Given the description of an element on the screen output the (x, y) to click on. 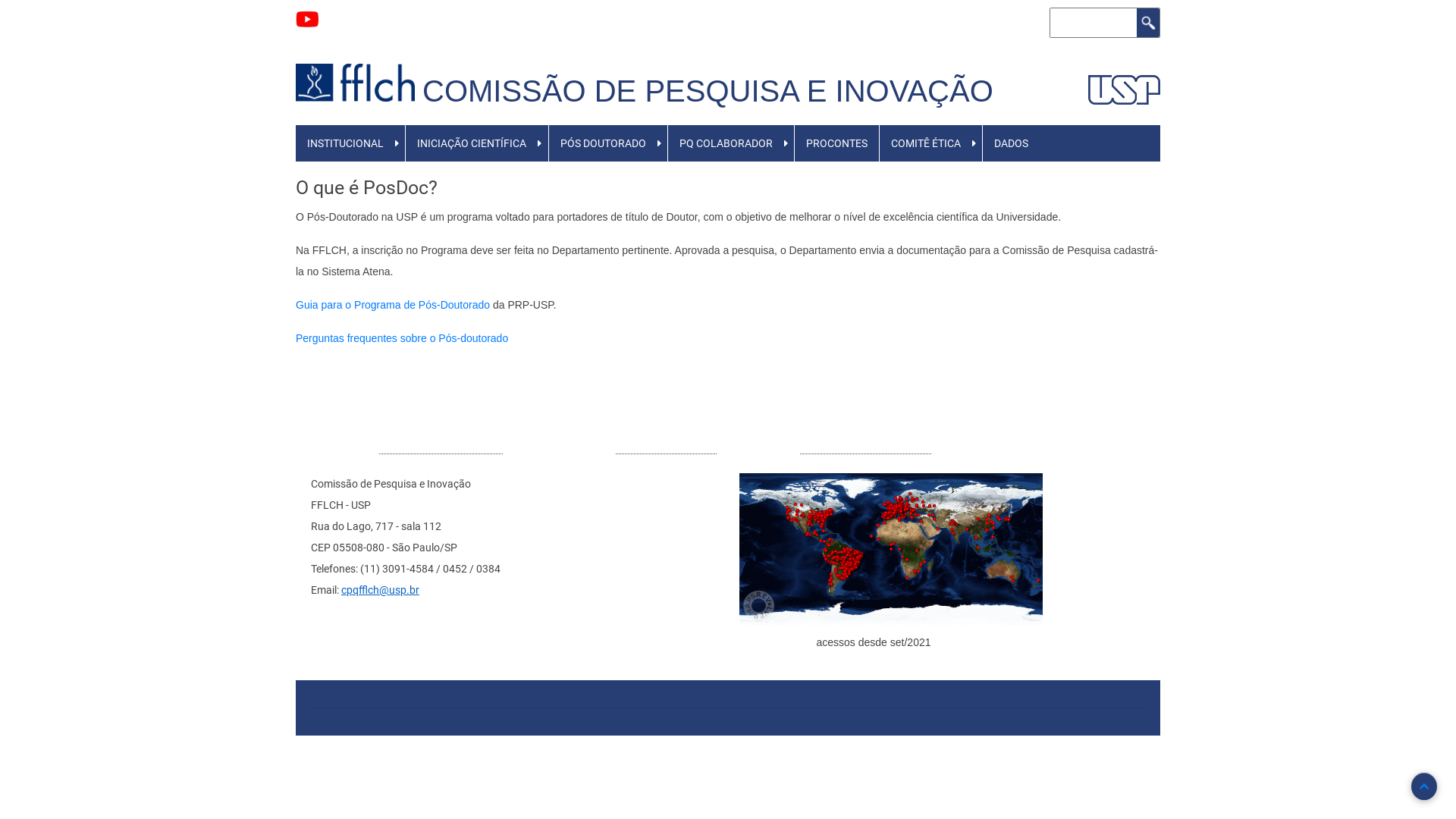
PROCONTES Element type: text (836, 143)
INSTITUCIONAL Element type: text (345, 143)
DADOS Element type: text (1010, 143)
Buscar Element type: text (1147, 22)
Back to Top Element type: hover (1424, 786)
PQ COLABORADOR Element type: text (726, 143)
cpqfflch@usp.br Element type: text (380, 589)
  Element type: text (425, 69)
